Given the description of an element on the screen output the (x, y) to click on. 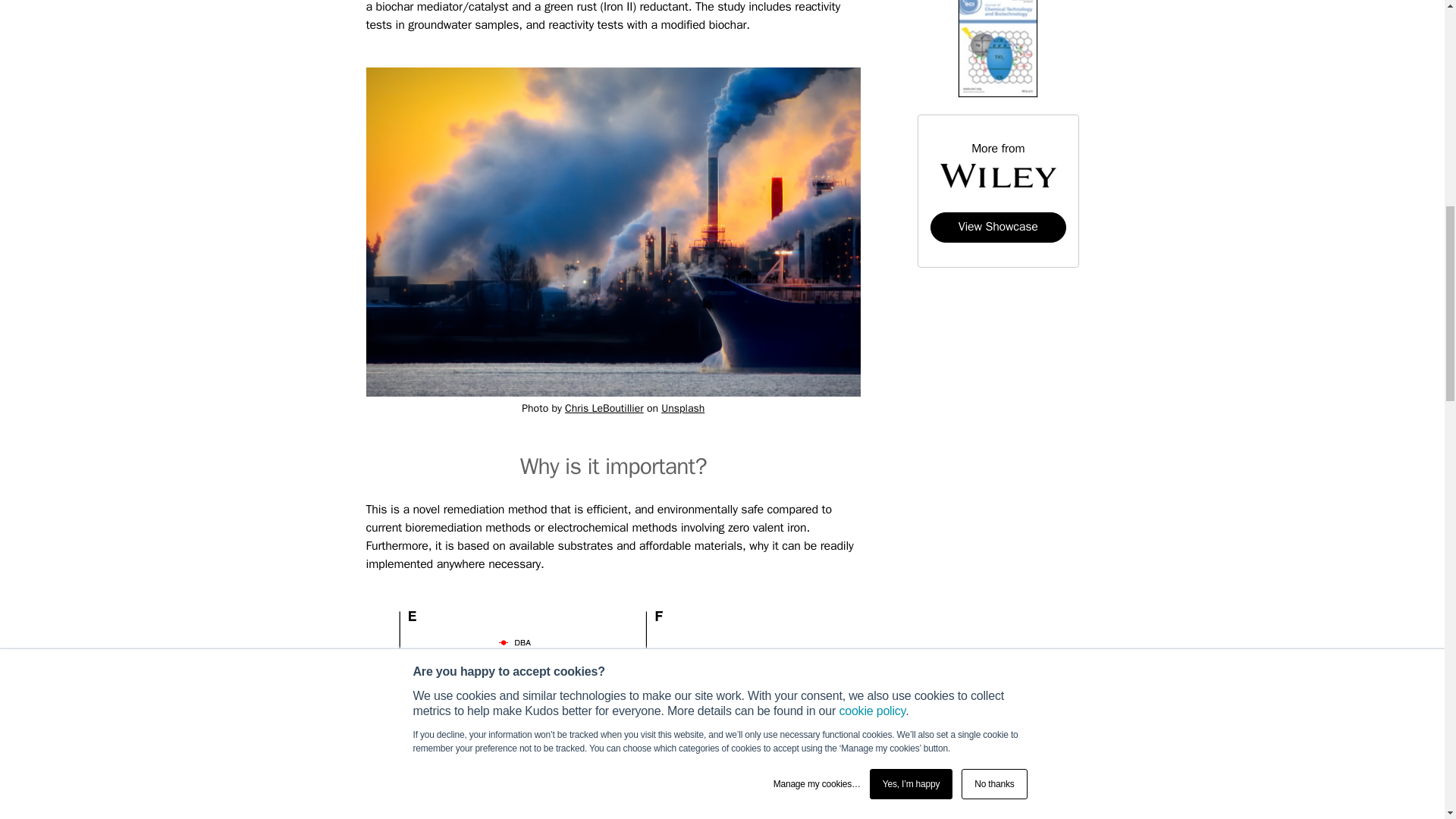
Unsplash (682, 408)
View Showcase (997, 226)
Chris LeBoutillier (603, 408)
